Given the description of an element on the screen output the (x, y) to click on. 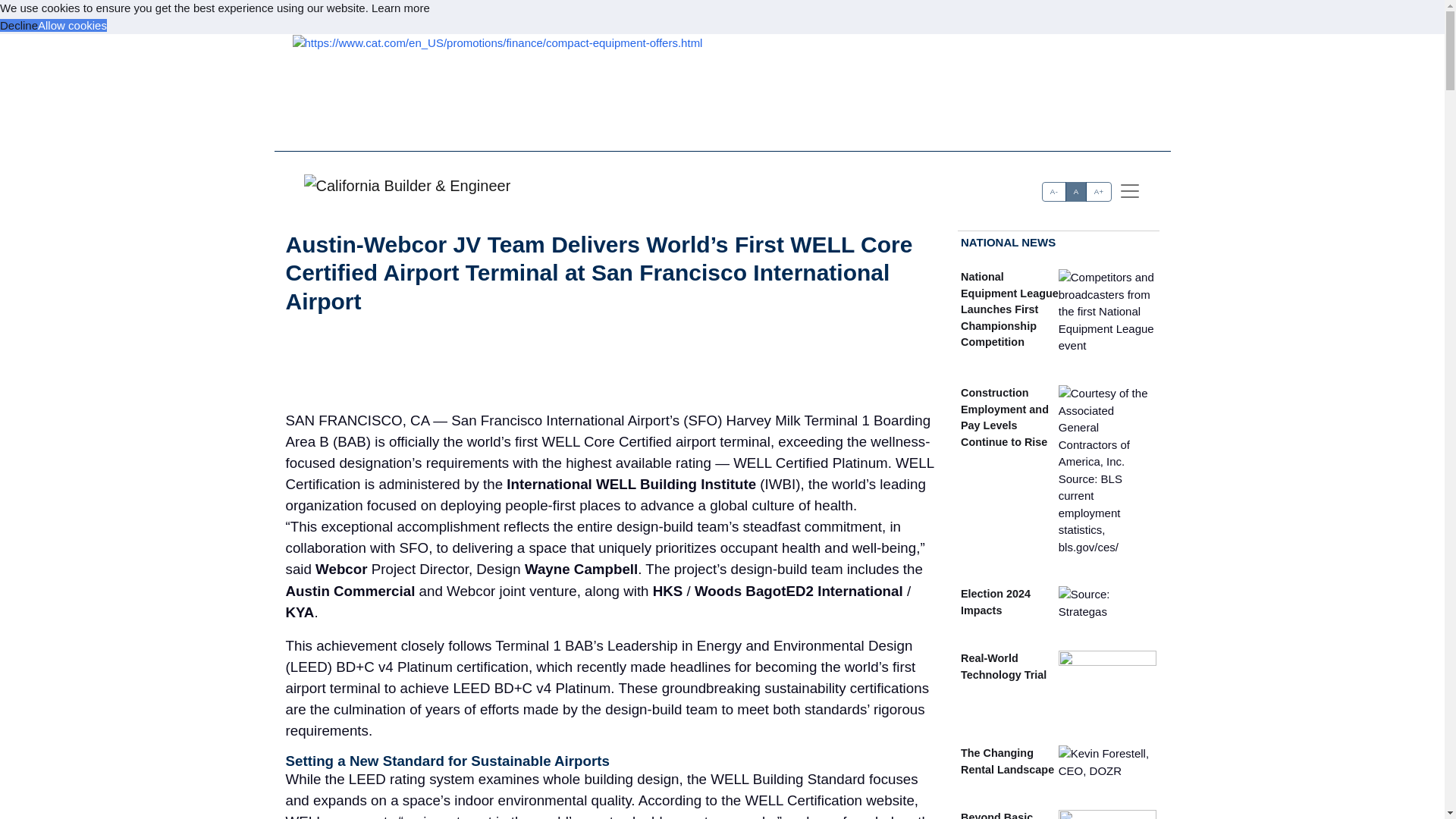
NATIONAL NEWS (1007, 241)
on (1047, 186)
on (1047, 186)
The Changing Rental Landscape (1007, 760)
Construction Employment and Pay Levels Continue to Rise (1004, 416)
on (1047, 186)
Allow cookies (71, 24)
Beyond Basic Rental Equipment (1006, 815)
Election 2024 Impacts (995, 601)
Learn more (400, 7)
Decline (18, 24)
Real-World Technology Trial (1003, 665)
